Given the description of an element on the screen output the (x, y) to click on. 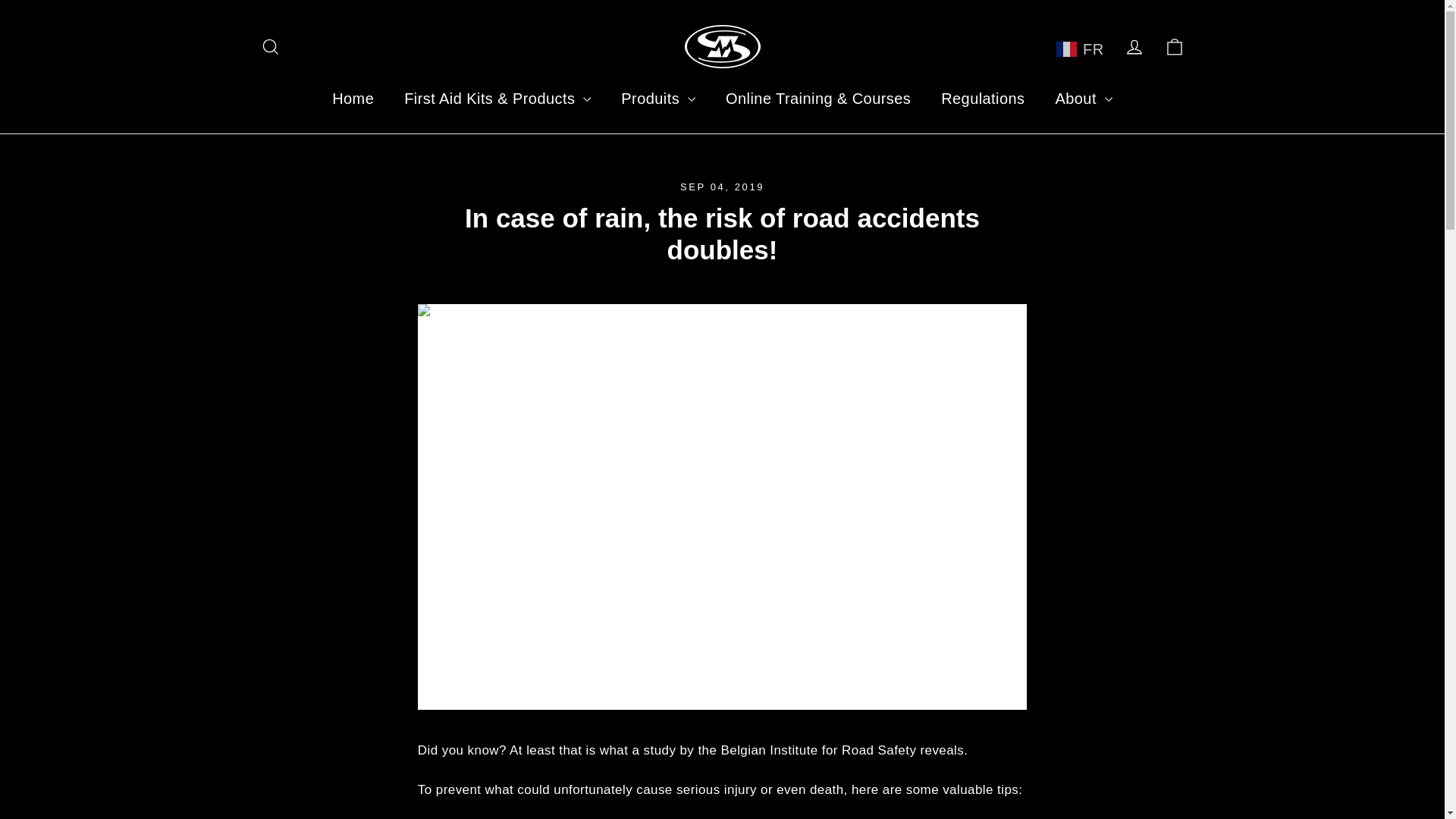
Home (352, 97)
About (1082, 97)
Search (269, 46)
Log in (1134, 46)
Cart (1173, 46)
FR (1079, 48)
Produits (657, 97)
Regulations (982, 97)
